Given the description of an element on the screen output the (x, y) to click on. 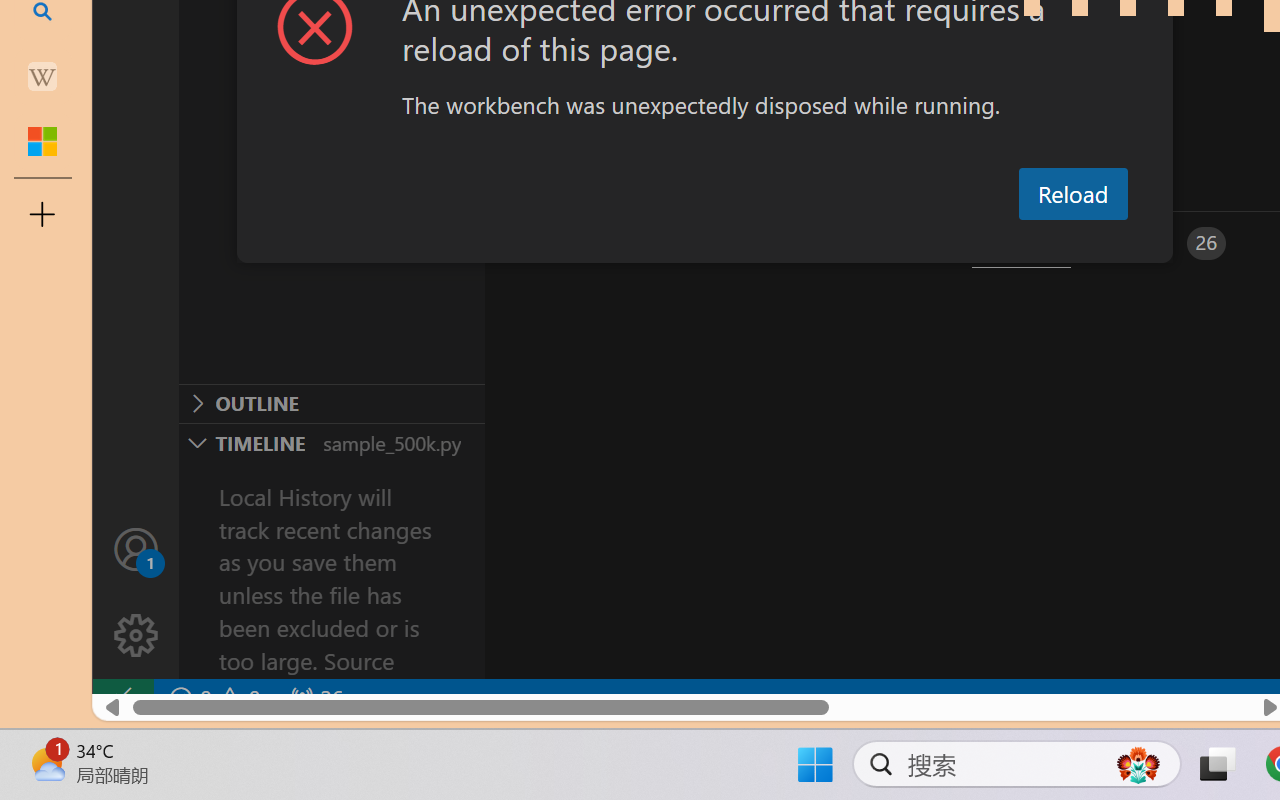
Terminal (Ctrl+`) (1021, 243)
Ports - 26 forwarded ports (1165, 243)
Output (Ctrl+Shift+U) (696, 243)
